Given the description of an element on the screen output the (x, y) to click on. 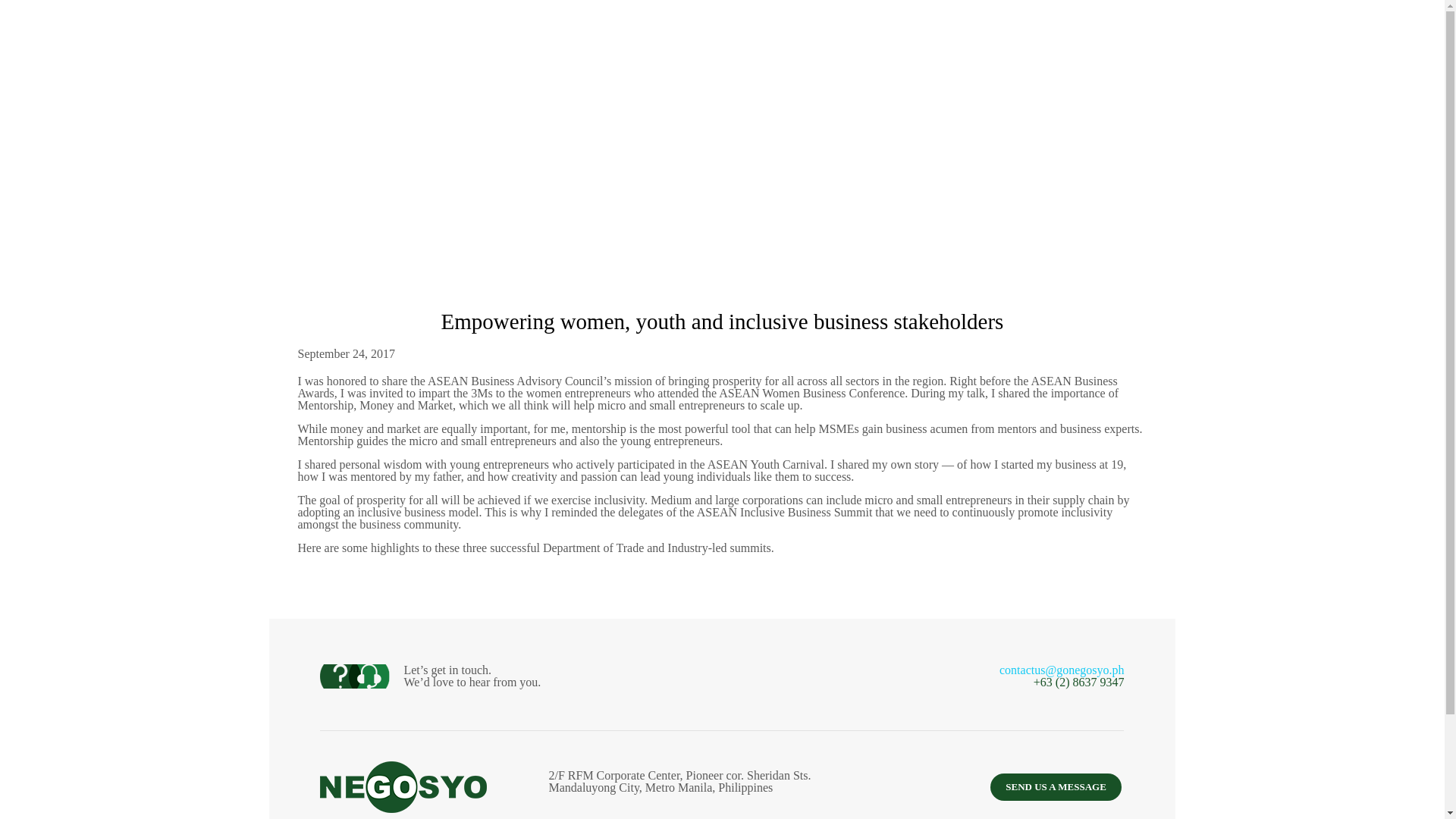
SEND US A MESSAGE (1055, 787)
